Given the description of an element on the screen output the (x, y) to click on. 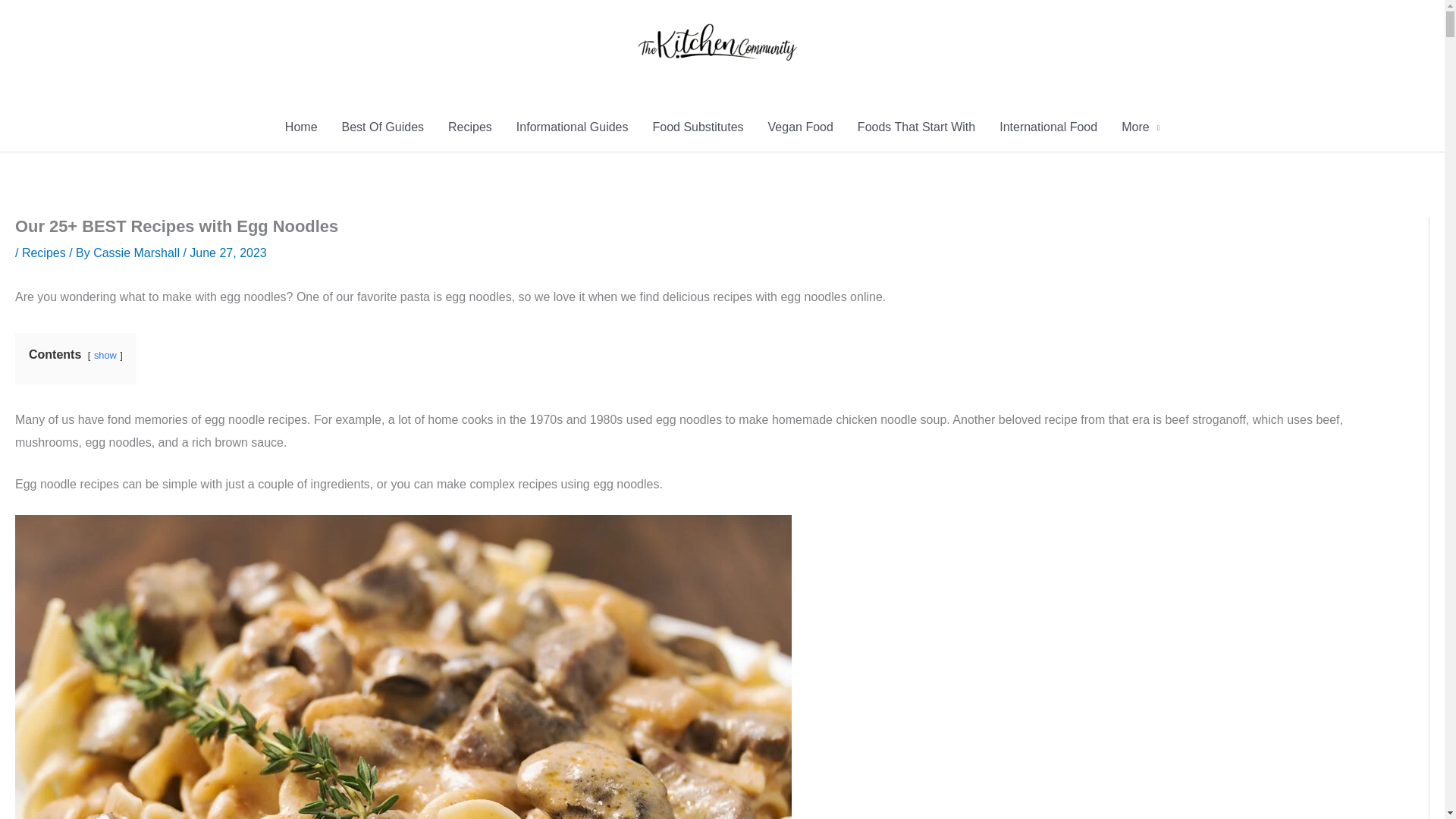
Vegan Food (800, 127)
Home (301, 127)
Cassie Marshall (138, 252)
Foods That Start With (916, 127)
Food Substitutes (697, 127)
Recipes (43, 252)
International Food (1048, 127)
Best Of Guides (383, 127)
View all posts by Cassie Marshall (138, 252)
More (1140, 127)
